Given the description of an element on the screen output the (x, y) to click on. 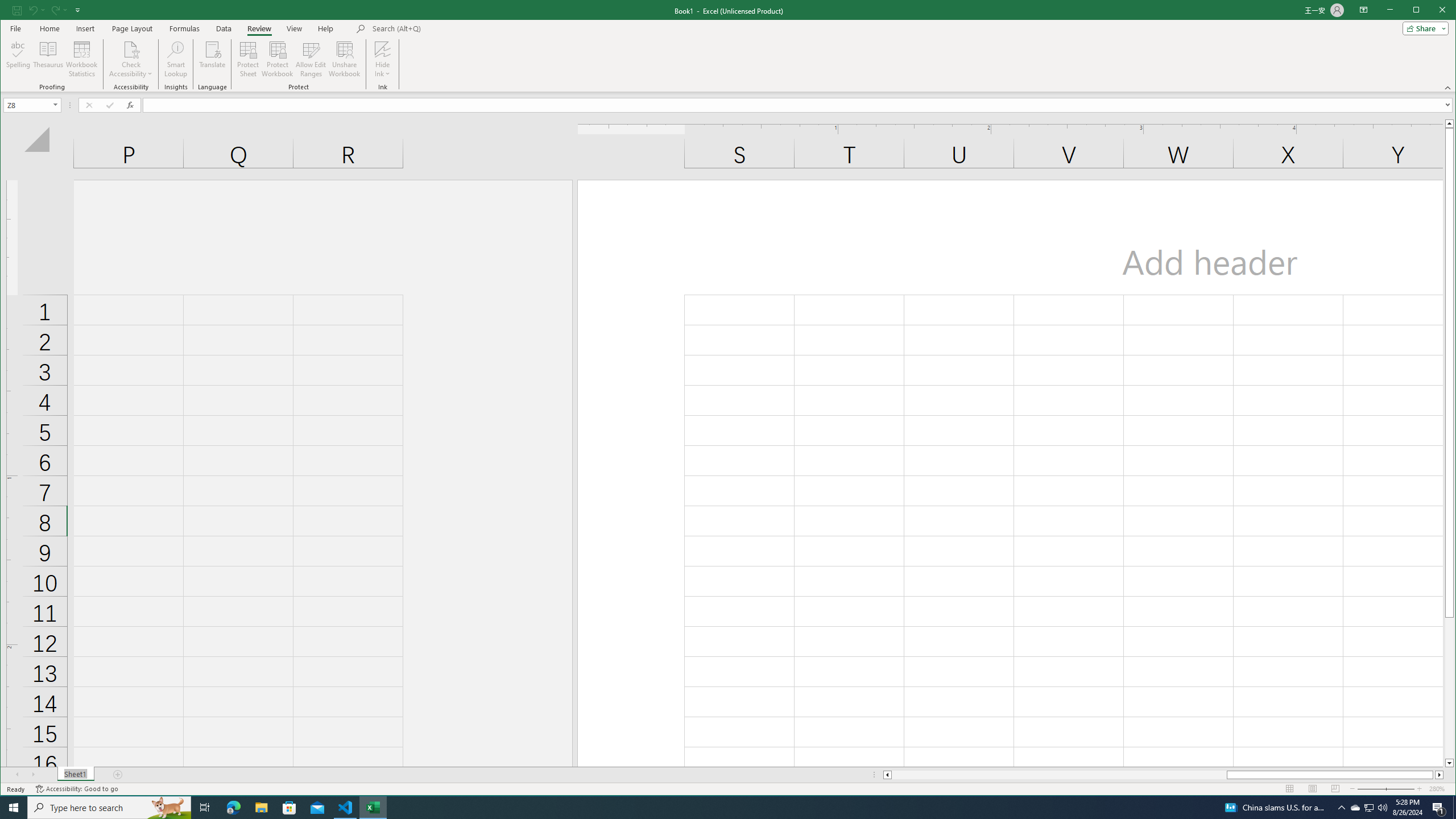
Thesaurus... (48, 59)
Allow Edit Ranges (310, 59)
Type here to search (108, 807)
User Promoted Notification Area (1368, 807)
Microsoft Store (289, 807)
Action Center, 1 new notification (1439, 807)
